Given the description of an element on the screen output the (x, y) to click on. 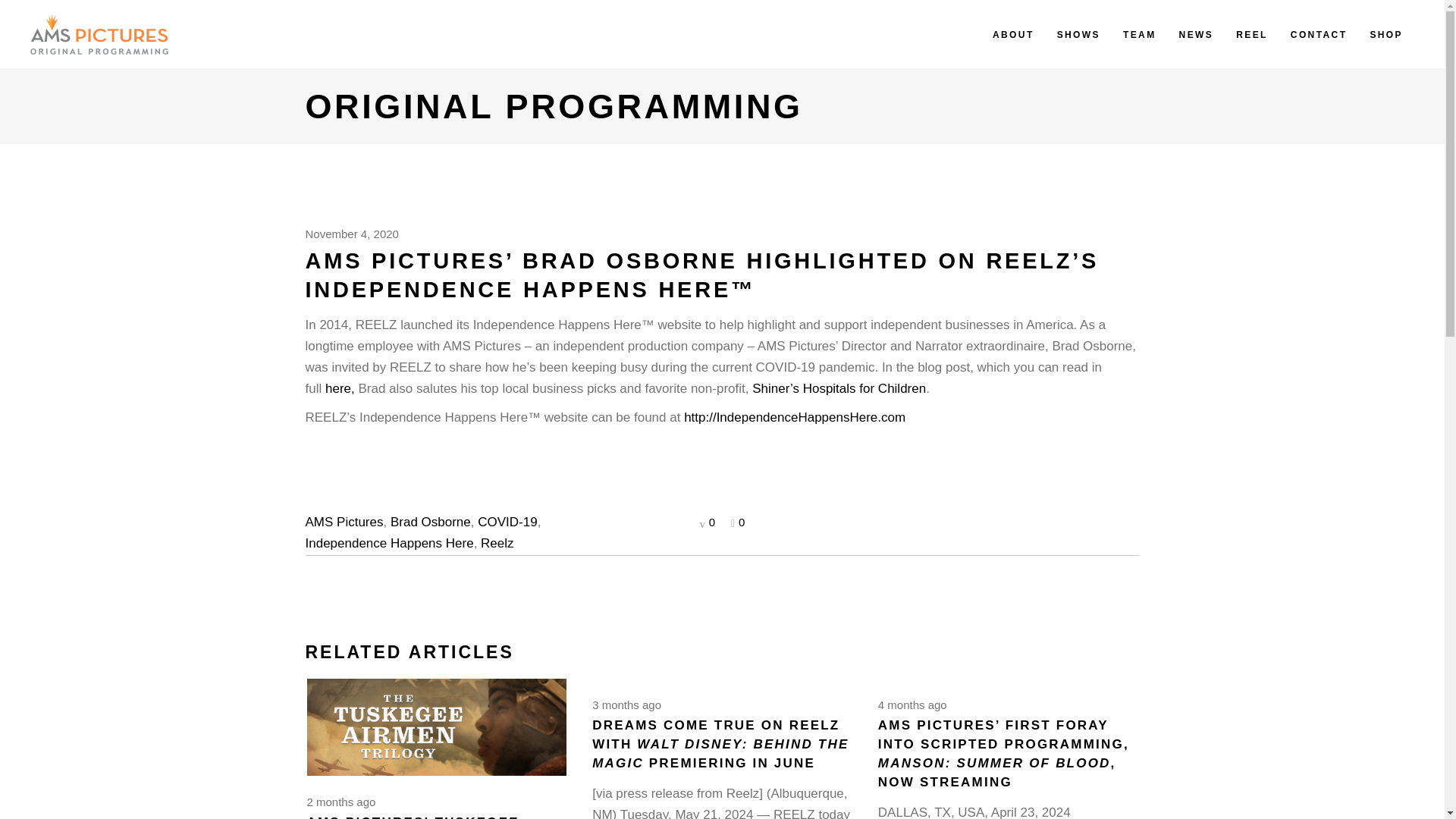
ABOUT (1013, 33)
AMS Pictures (343, 522)
Like this (737, 521)
Brad Osborne (430, 522)
0 (737, 521)
CONTACT (1318, 33)
November 4, 2020 (350, 233)
SHOWS (1078, 33)
here (337, 388)
